Given the description of an element on the screen output the (x, y) to click on. 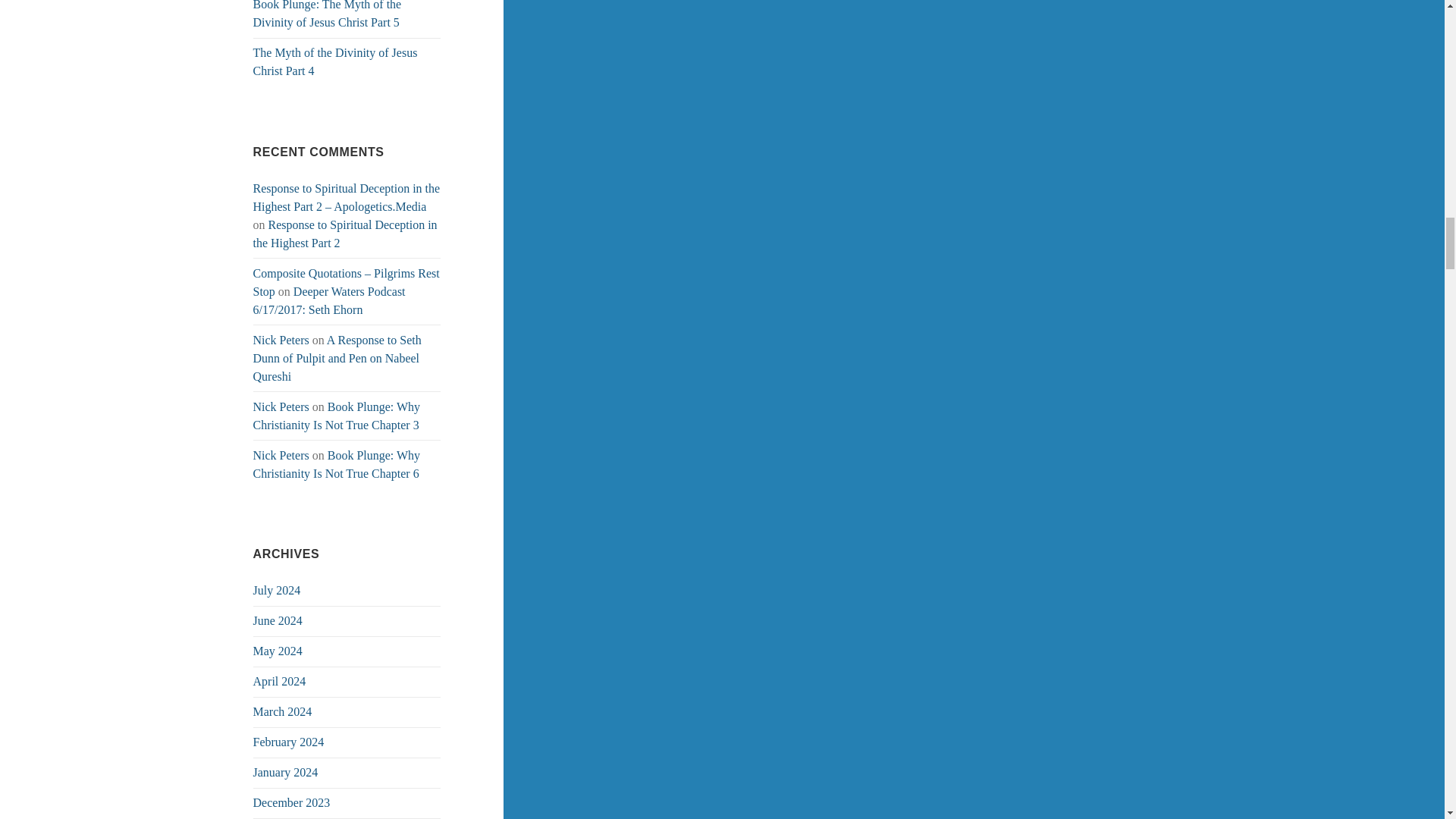
Nick Peters (280, 339)
Nick Peters (280, 406)
Response to Spiritual Deception in the Highest Part 2 (345, 233)
Book Plunge: The Myth of the Divinity of Jesus Christ Part 5 (327, 14)
The Myth of the Divinity of Jesus Christ Part 4 (335, 60)
A Response to Seth Dunn of Pulpit and Pen on Nabeel Qureshi (337, 358)
Book Plunge: Why Christianity Is Not True Chapter 3 (336, 415)
